Given the description of an element on the screen output the (x, y) to click on. 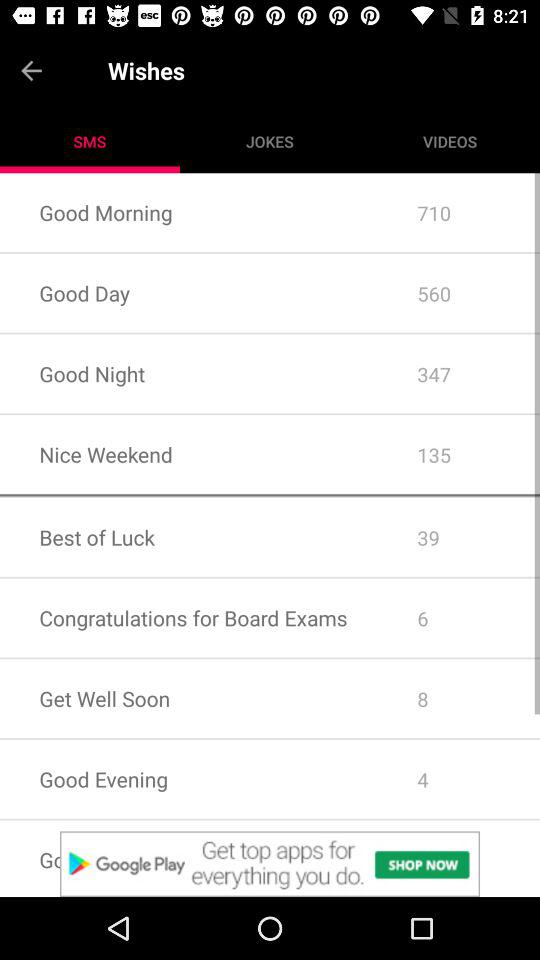
scroll to the nice weekend icon (188, 454)
